Given the description of an element on the screen output the (x, y) to click on. 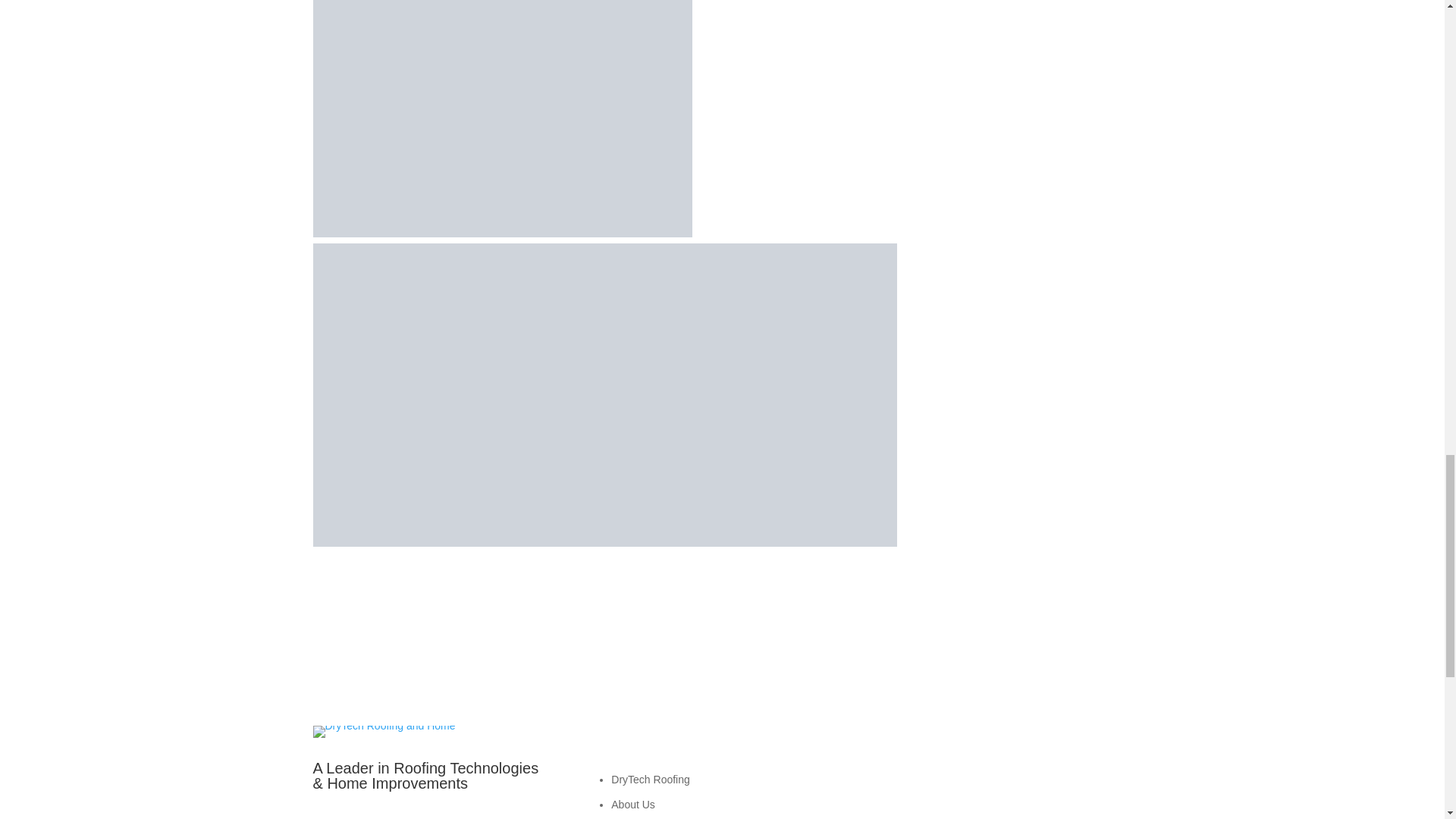
Follow on Facebook (900, 781)
Follow on google-plus (991, 781)
DryTechLogo-Short (383, 731)
Follow on Youtube (930, 781)
Follow on Instagram (1021, 781)
Follow on X (961, 781)
